Given the description of an element on the screen output the (x, y) to click on. 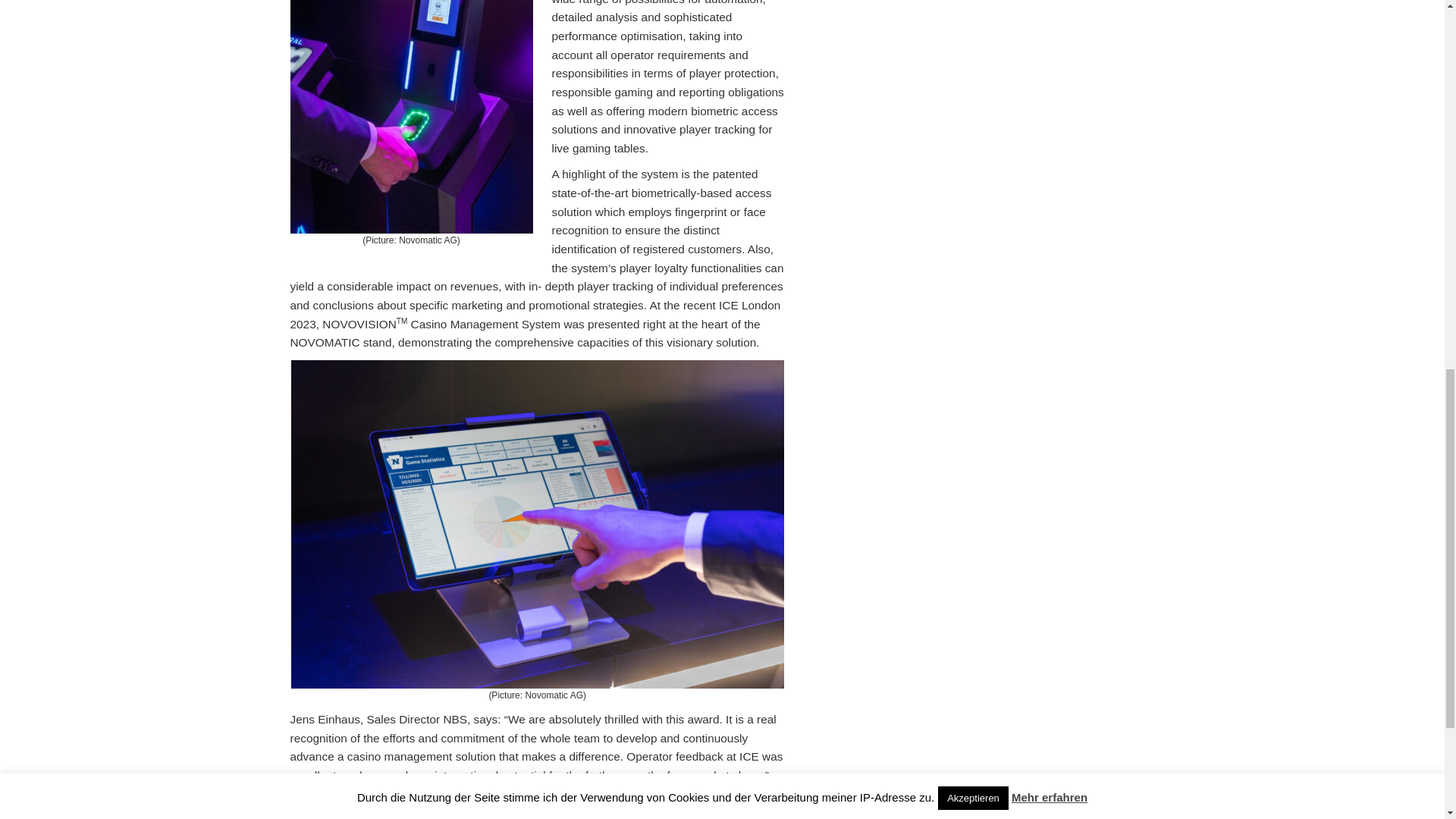
Novomatic AG (370, 801)
